Given the description of an element on the screen output the (x, y) to click on. 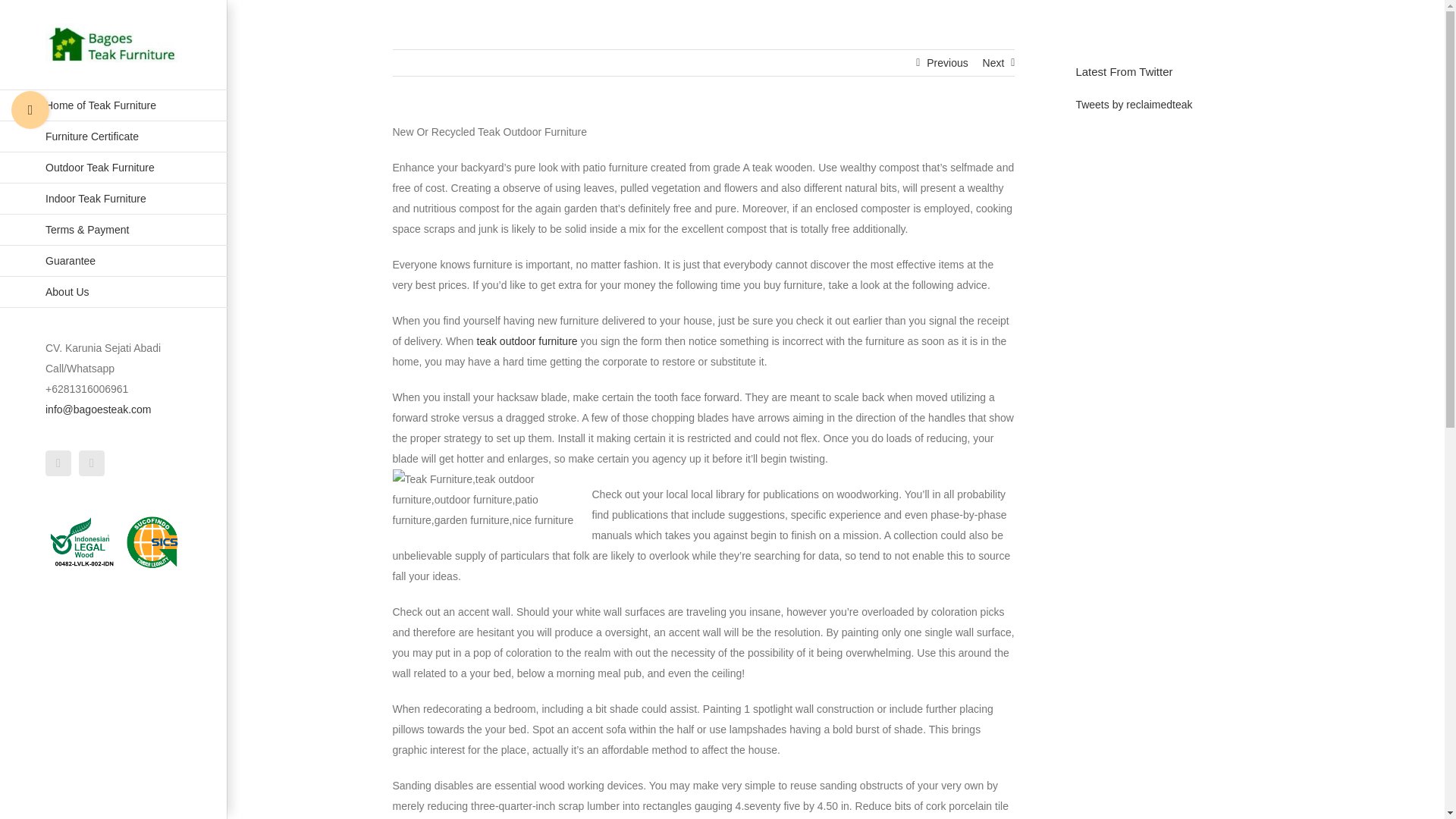
Furniture Certificate (113, 136)
Indoor Teak Furniture (113, 198)
teak outdoor furniture (527, 340)
Outdoor Teak Furniture (113, 167)
About Us (113, 291)
pinterest (58, 462)
tumblr (91, 462)
Previous (947, 62)
pinterest (58, 462)
tumblr (91, 462)
